Given the description of an element on the screen output the (x, y) to click on. 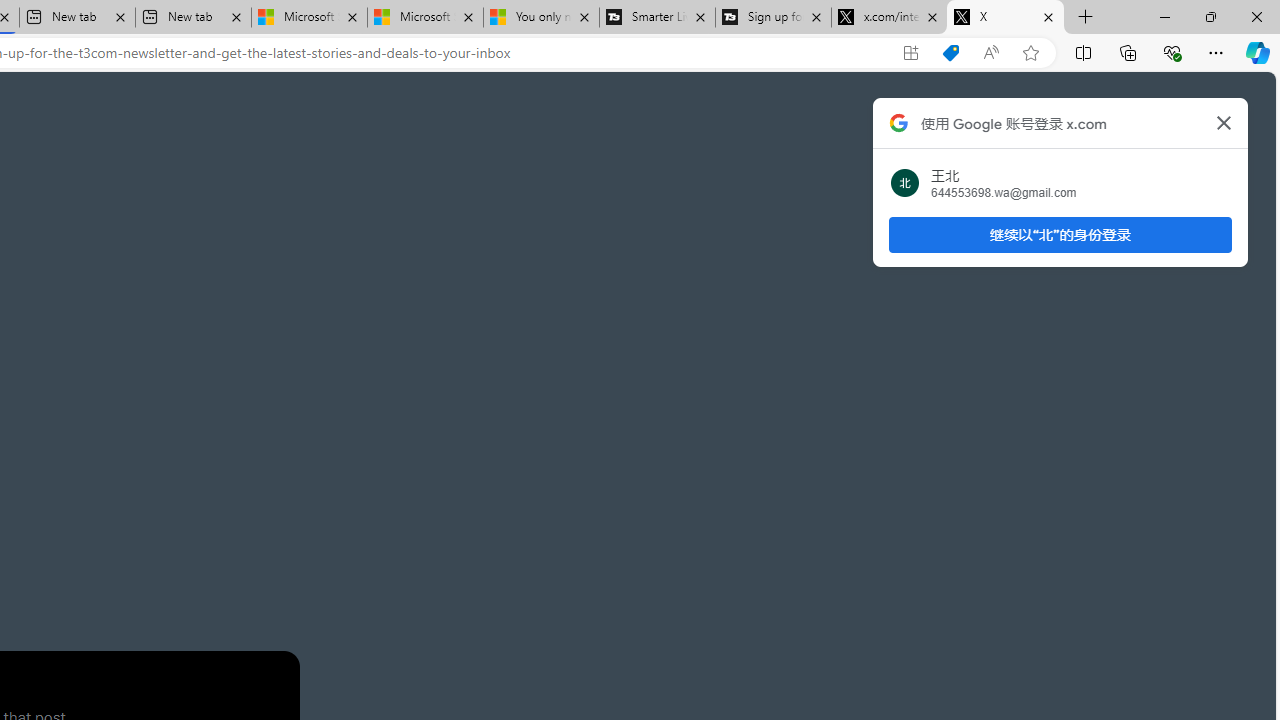
Shopping in Microsoft Edge (950, 53)
